Given the description of an element on the screen output the (x, y) to click on. 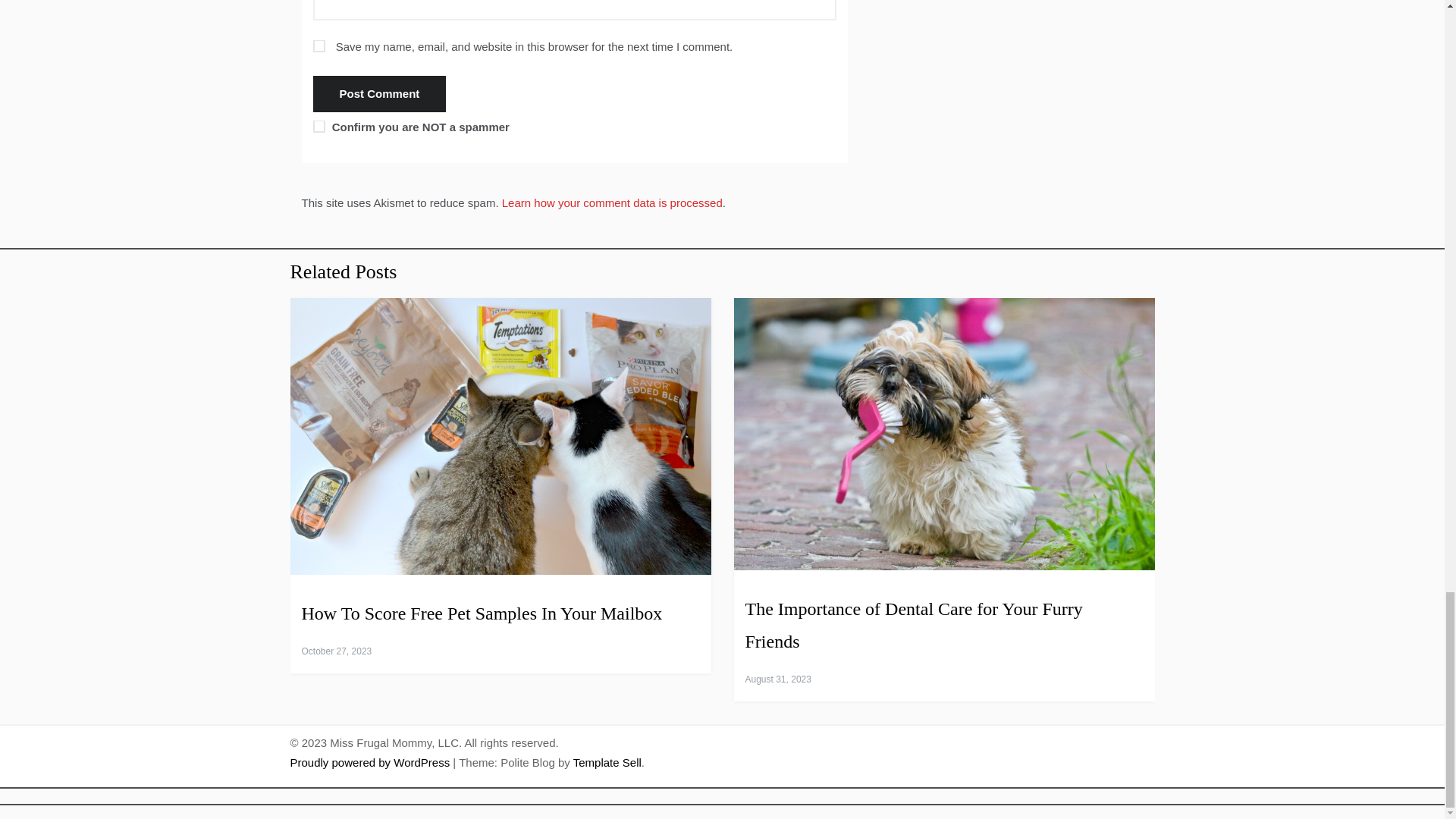
on (318, 126)
yes (318, 46)
Post Comment (379, 94)
